Given the description of an element on the screen output the (x, y) to click on. 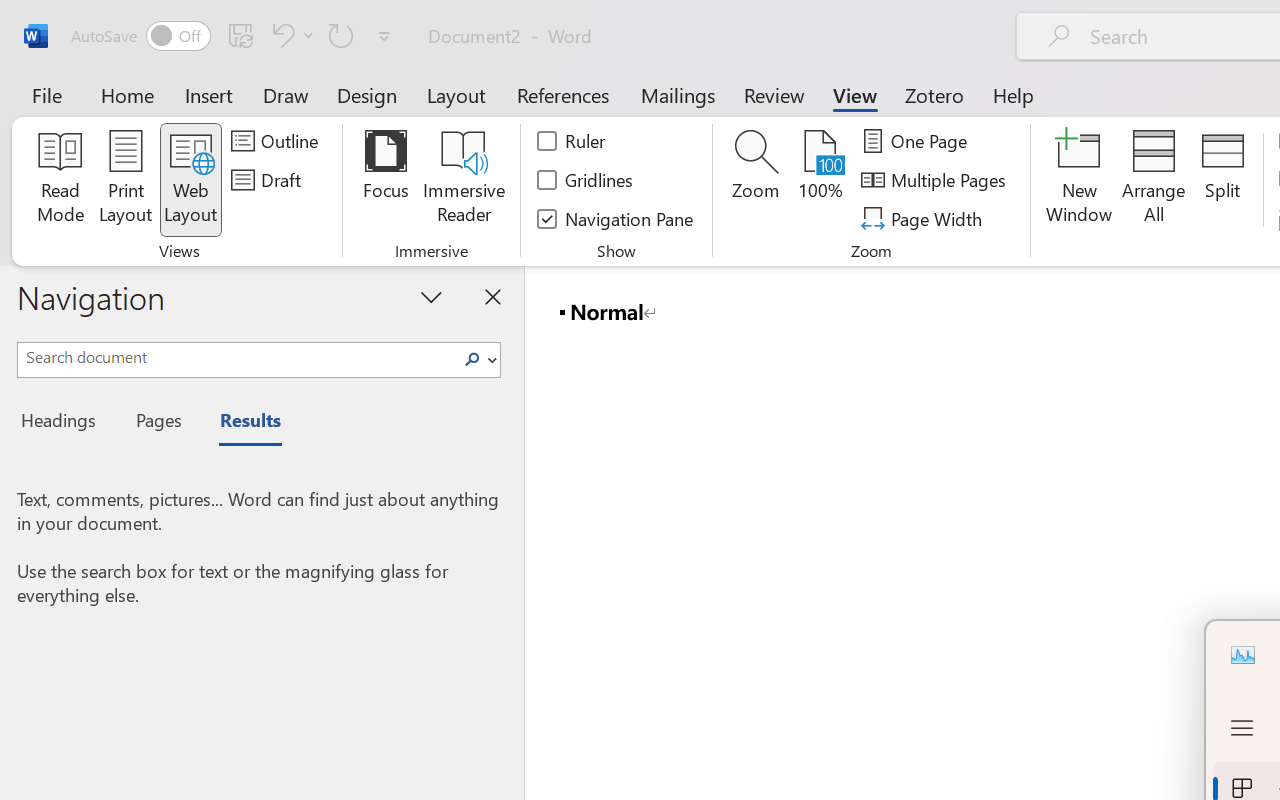
Layout (456, 94)
New Window (1079, 179)
Outline (278, 141)
Results (240, 423)
Design (367, 94)
Page Width (924, 218)
Repeat Doc Close (341, 35)
AutoSave (140, 35)
References (562, 94)
Undo <ApplyStyleToDoc>b__0 (290, 35)
